Given the description of an element on the screen output the (x, y) to click on. 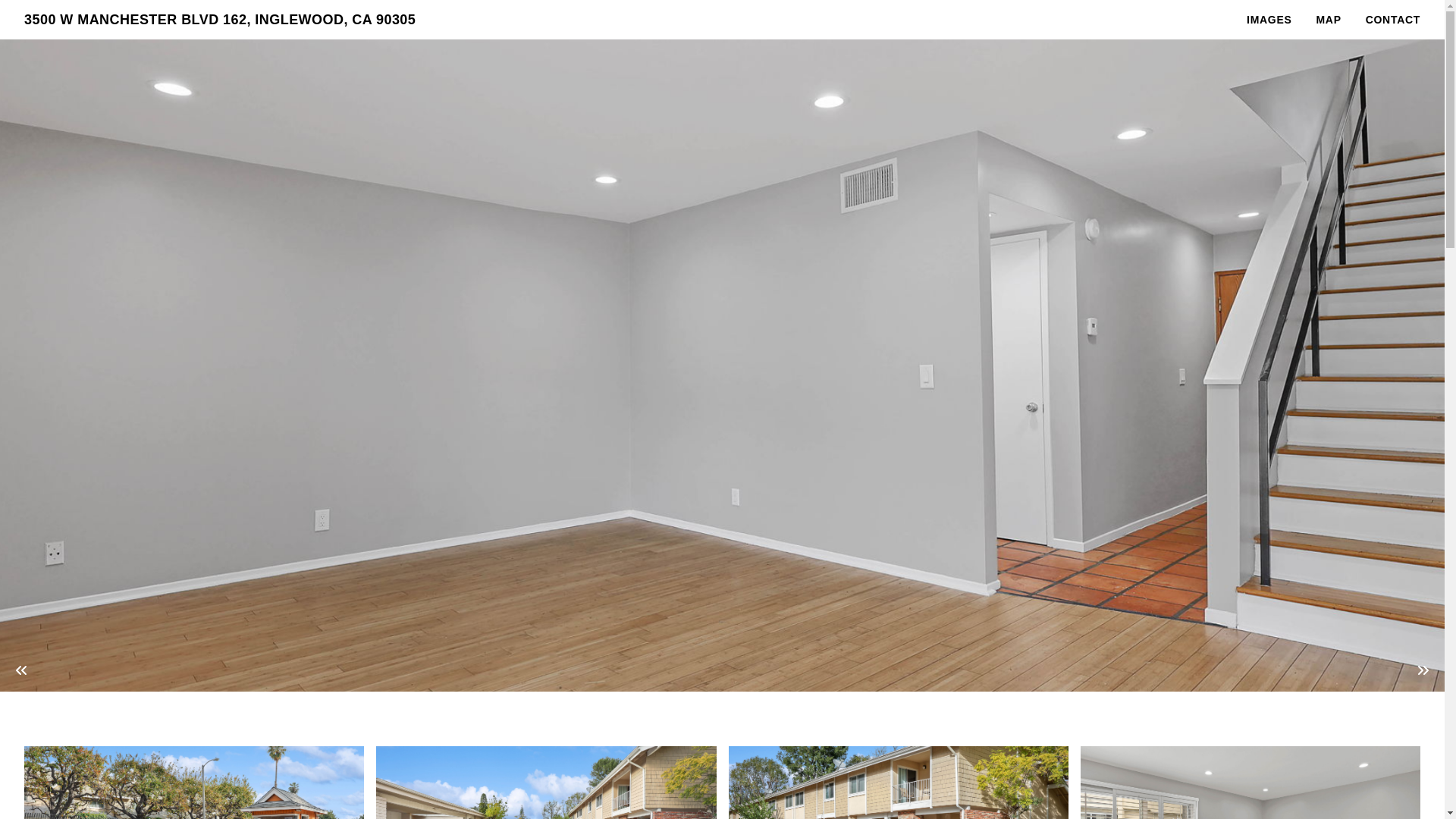
MAP Element type: text (1327, 19)
CONTACT Element type: text (1392, 19)
Next Photo Element type: text (1423, 670)
3500 W MANCHESTER BLVD 162, INGLEWOOD, CA 90305 Element type: text (219, 19)
IMAGES Element type: text (1268, 19)
Previous Photo Element type: text (21, 670)
